Given the description of an element on the screen output the (x, y) to click on. 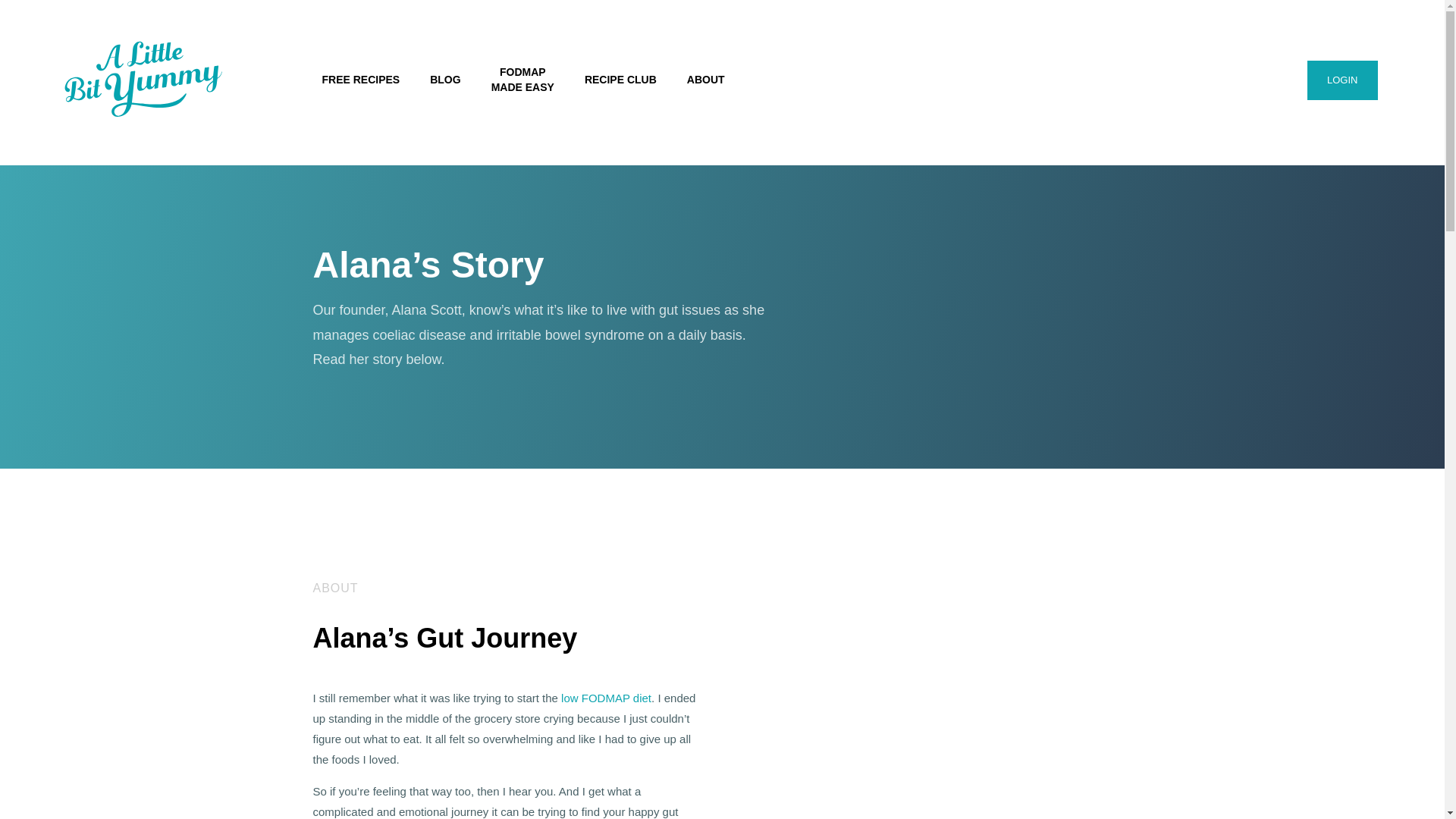
ABOUT (705, 79)
LOGIN (1342, 79)
low FODMAP diet (523, 79)
RECIPE CLUB (605, 701)
Skip to primary navigation (620, 79)
FREE RECIPES (445, 79)
